Given the description of an element on the screen output the (x, y) to click on. 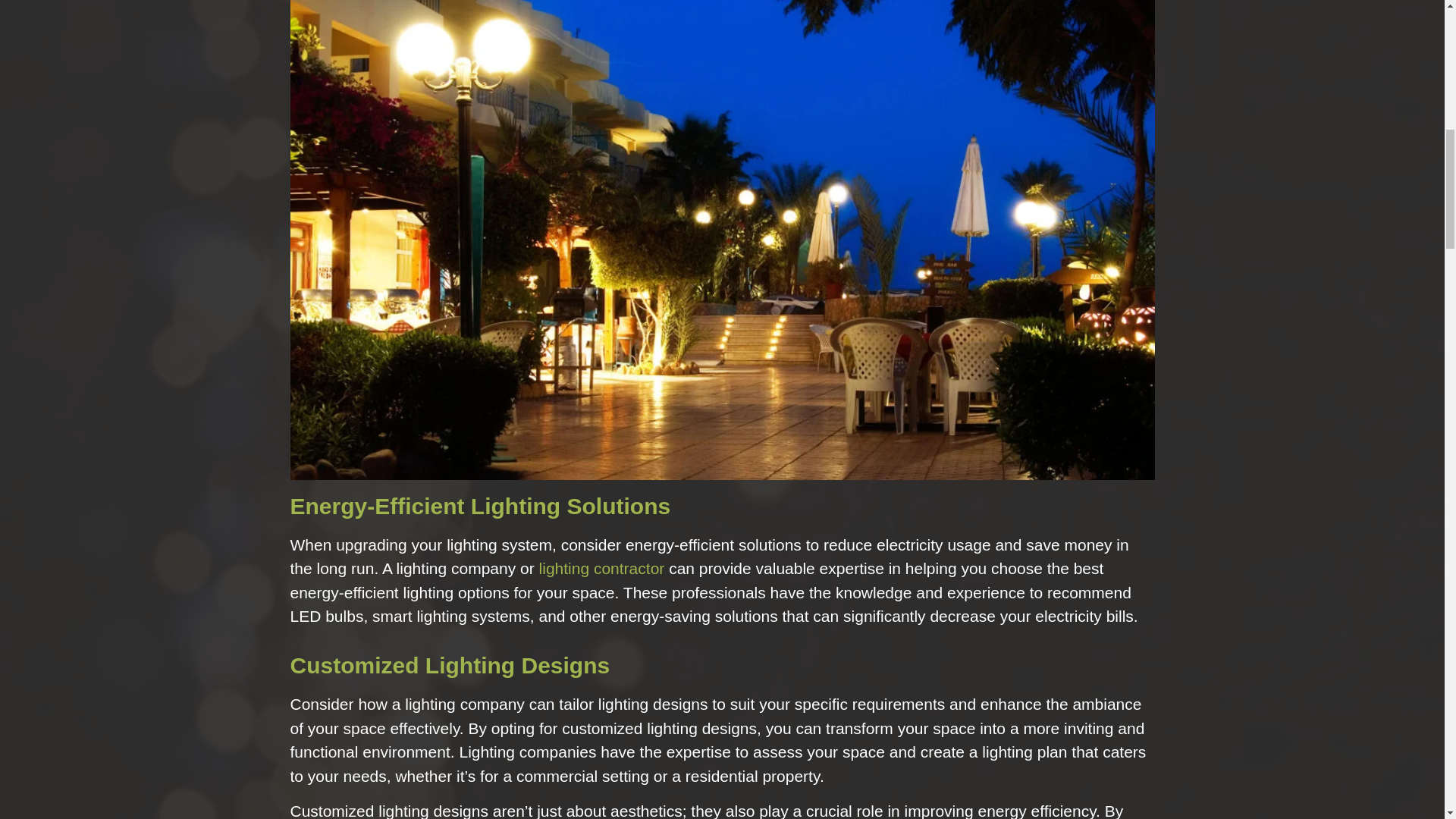
lighting contractor (601, 568)
